Given the description of an element on the screen output the (x, y) to click on. 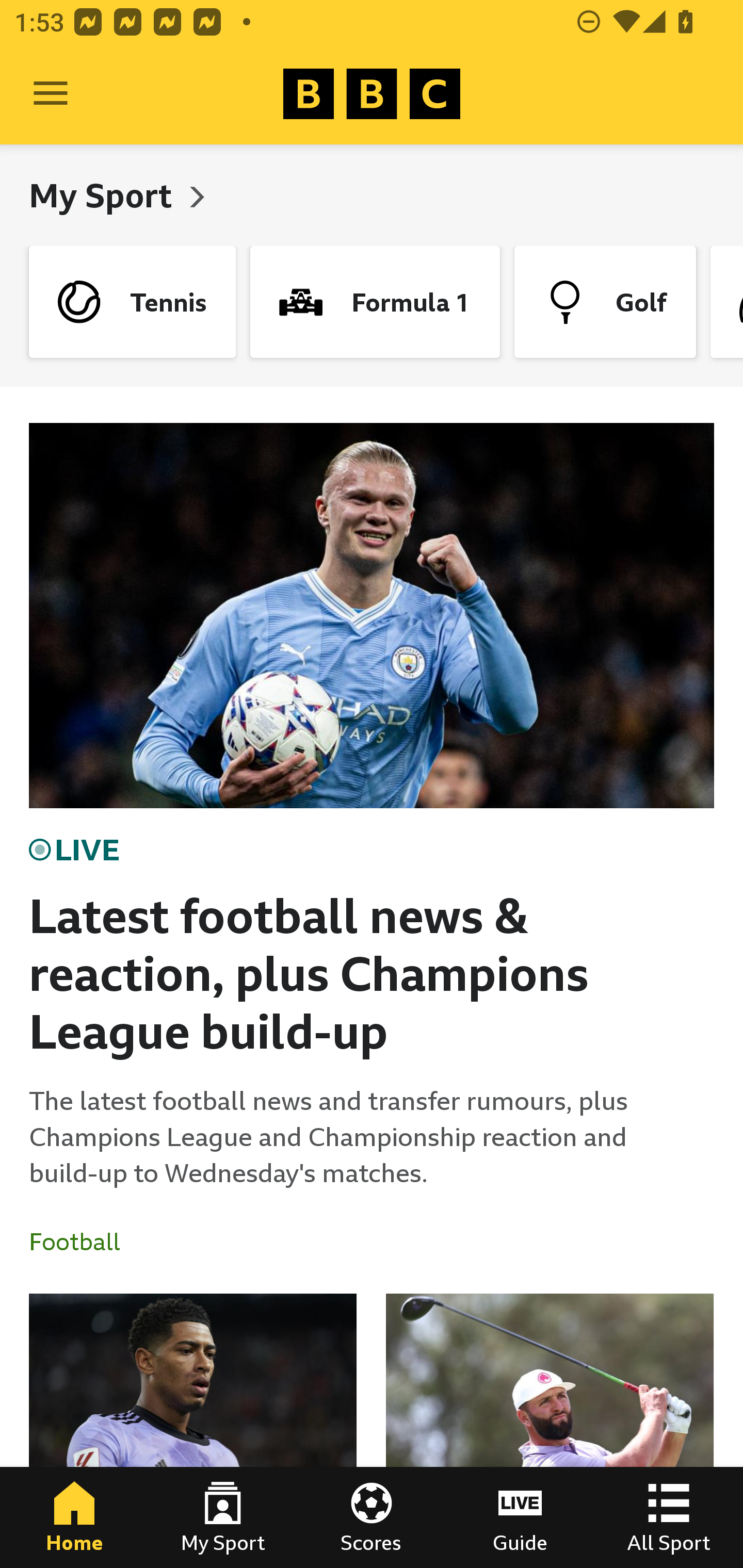
Open Menu (50, 93)
My Sport (104, 195)
Football In the section Football (81, 1241)
Real midfielder Bellingham banned for two games (192, 1430)
My Sport (222, 1517)
Scores (371, 1517)
Guide (519, 1517)
All Sport (668, 1517)
